Given the description of an element on the screen output the (x, y) to click on. 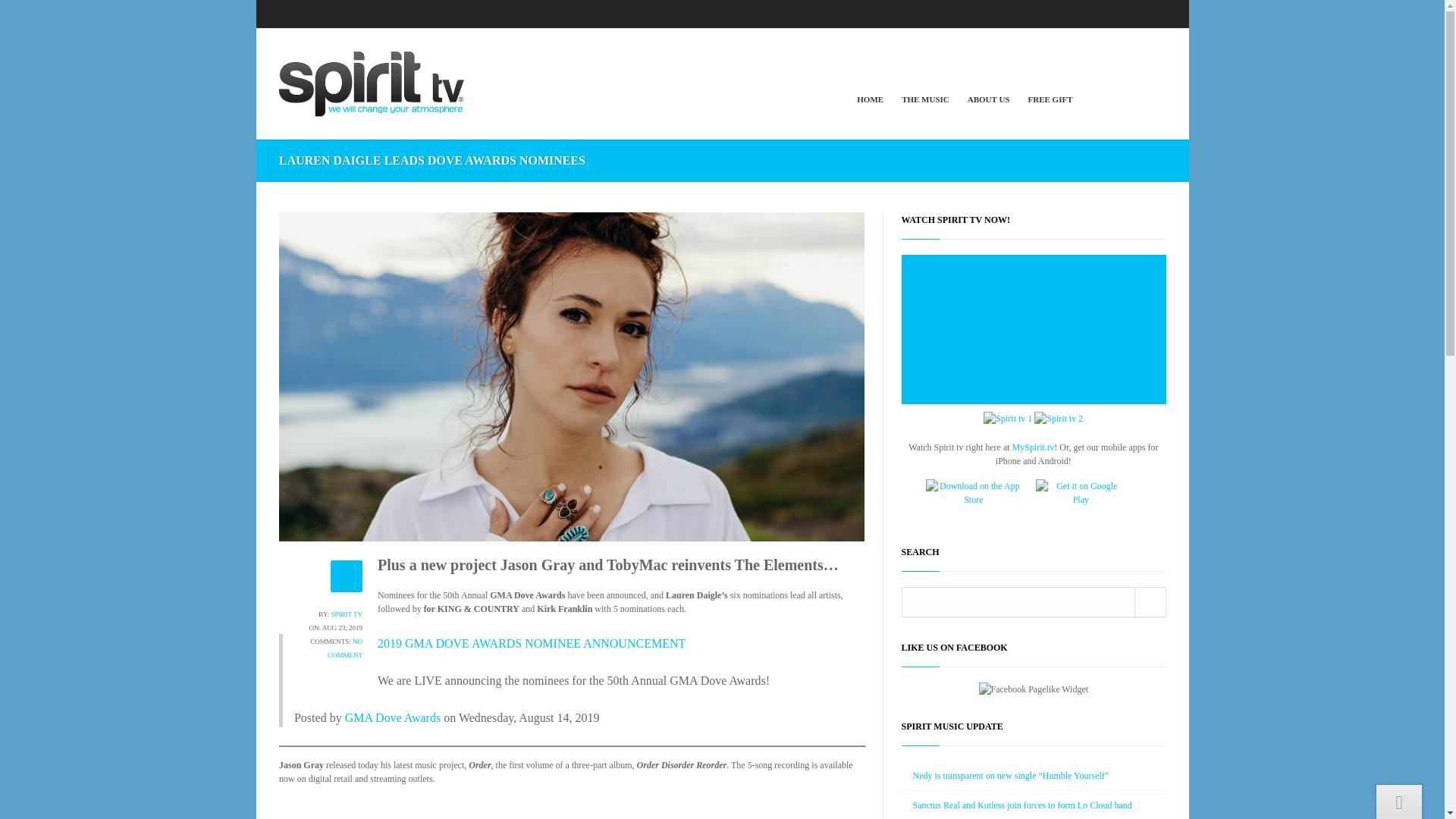
FREE GIFT (1050, 98)
2019 GMA DOVE AWARDS NOMINEE ANNOUNCEMENT (531, 643)
MySpirit.tv (1032, 447)
Search (1150, 602)
THE MUSIC (924, 98)
HOME (869, 98)
Posts by Spirit tv (346, 614)
SPIRIT TV (346, 614)
GMA Dove Awards (393, 717)
twitter (1128, 12)
